Given the description of an element on the screen output the (x, y) to click on. 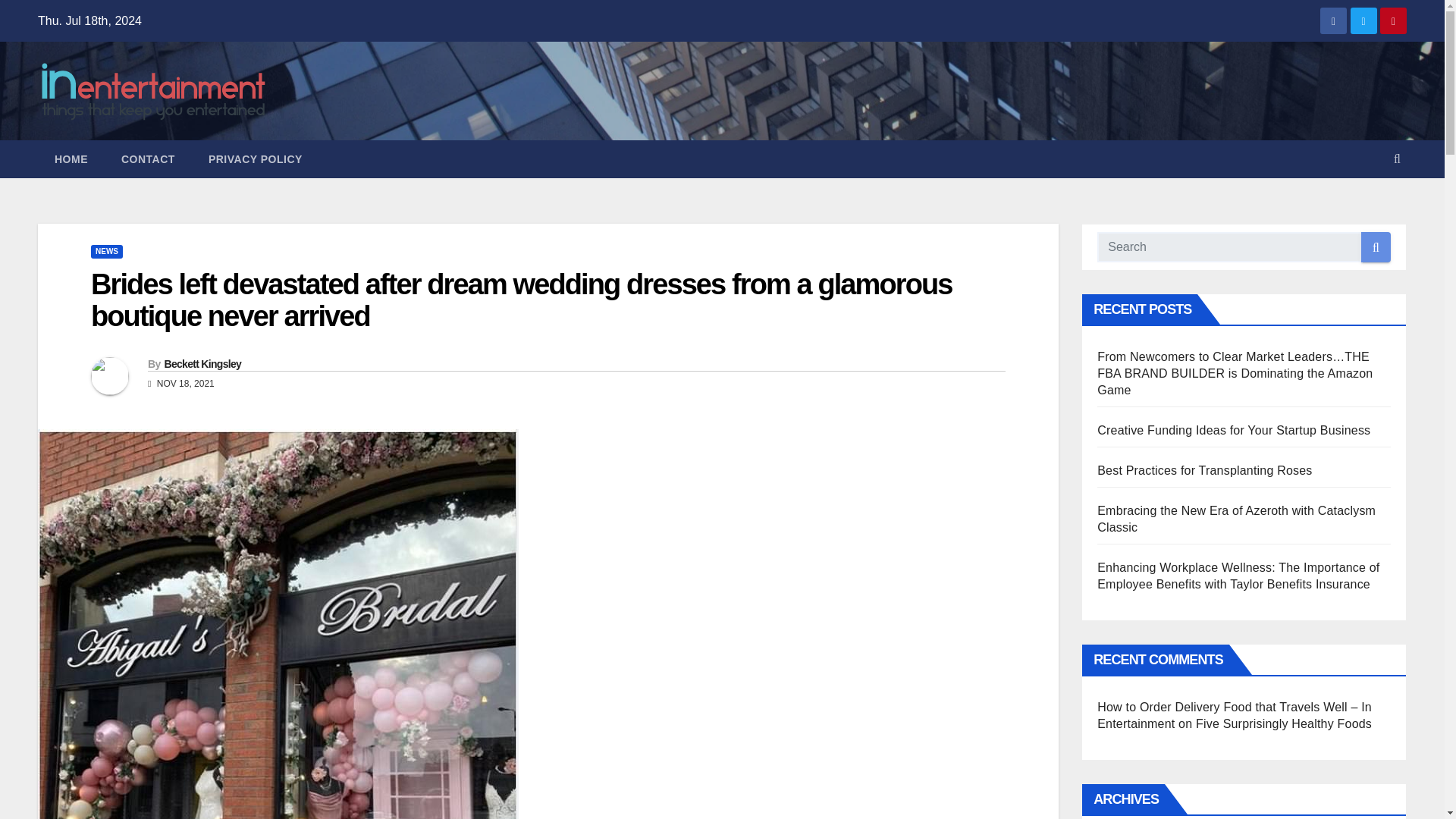
Home (70, 159)
Best Practices for Transplanting Roses (1204, 470)
Creative Funding Ideas for Your Startup Business (1233, 430)
HOME (70, 159)
Embracing the New Era of Azeroth with Cataclysm Classic (1236, 518)
PRIVACY POLICY (255, 159)
Beckett Kingsley (202, 363)
NEWS (106, 251)
CONTACT (148, 159)
